Given the description of an element on the screen output the (x, y) to click on. 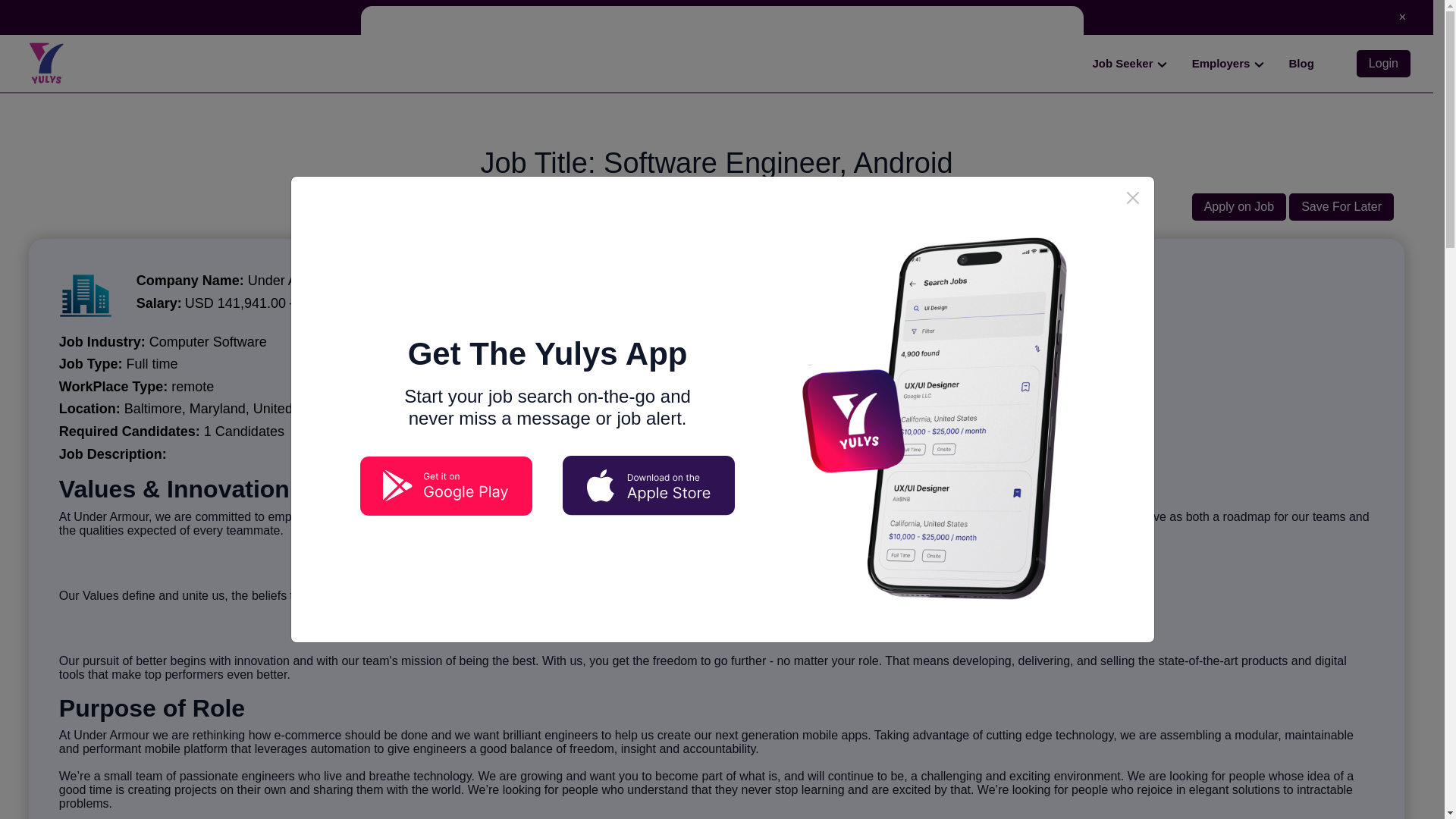
Blog (1301, 63)
Employers (1228, 63)
Apply on Job (1239, 206)
Login (1383, 62)
Job Seeker (1129, 63)
Save For Later (1340, 206)
Post a Free Job Now! (713, 17)
